Given the description of an element on the screen output the (x, y) to click on. 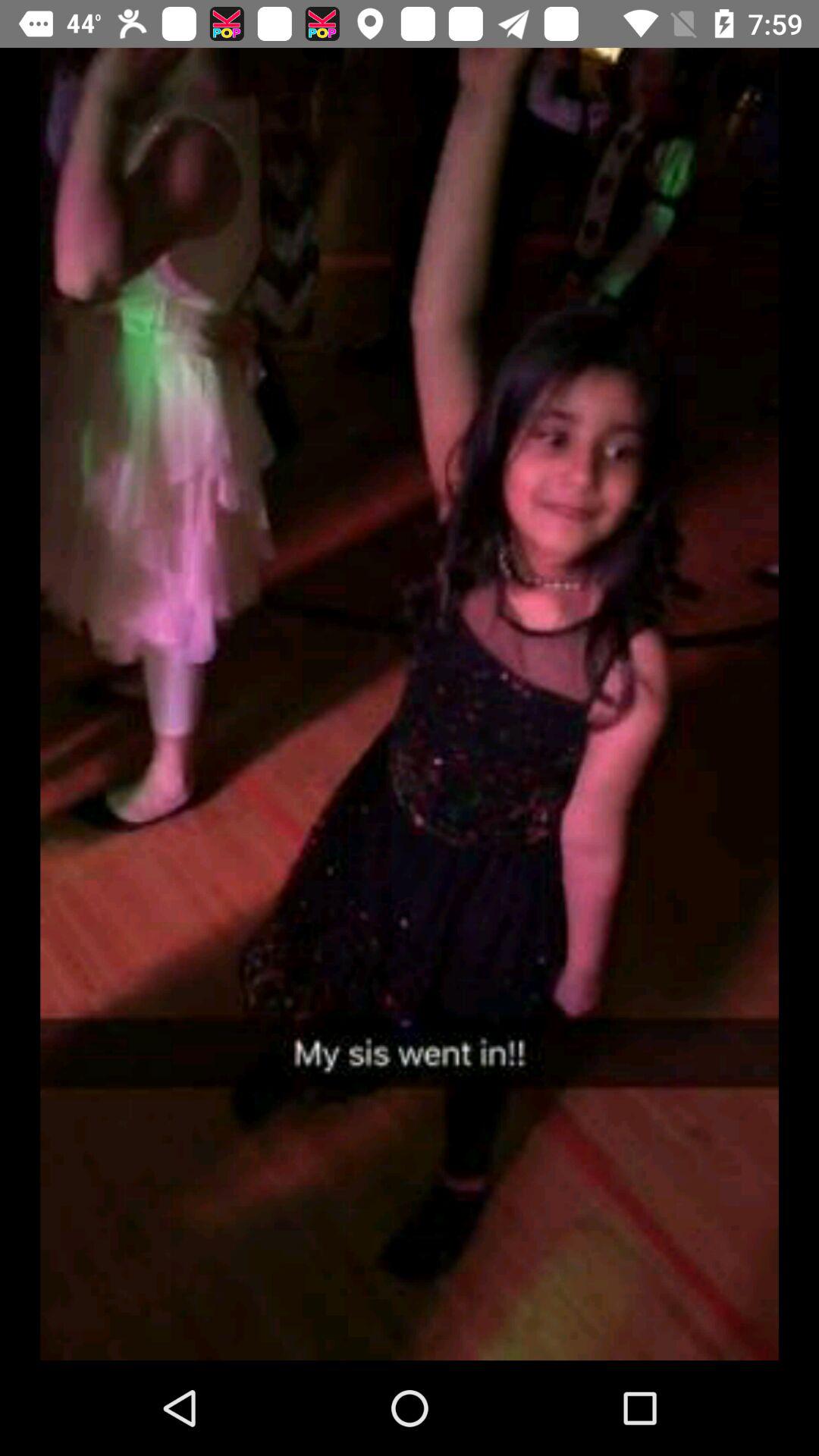
launch item at the center (409, 703)
